Given the description of an element on the screen output the (x, y) to click on. 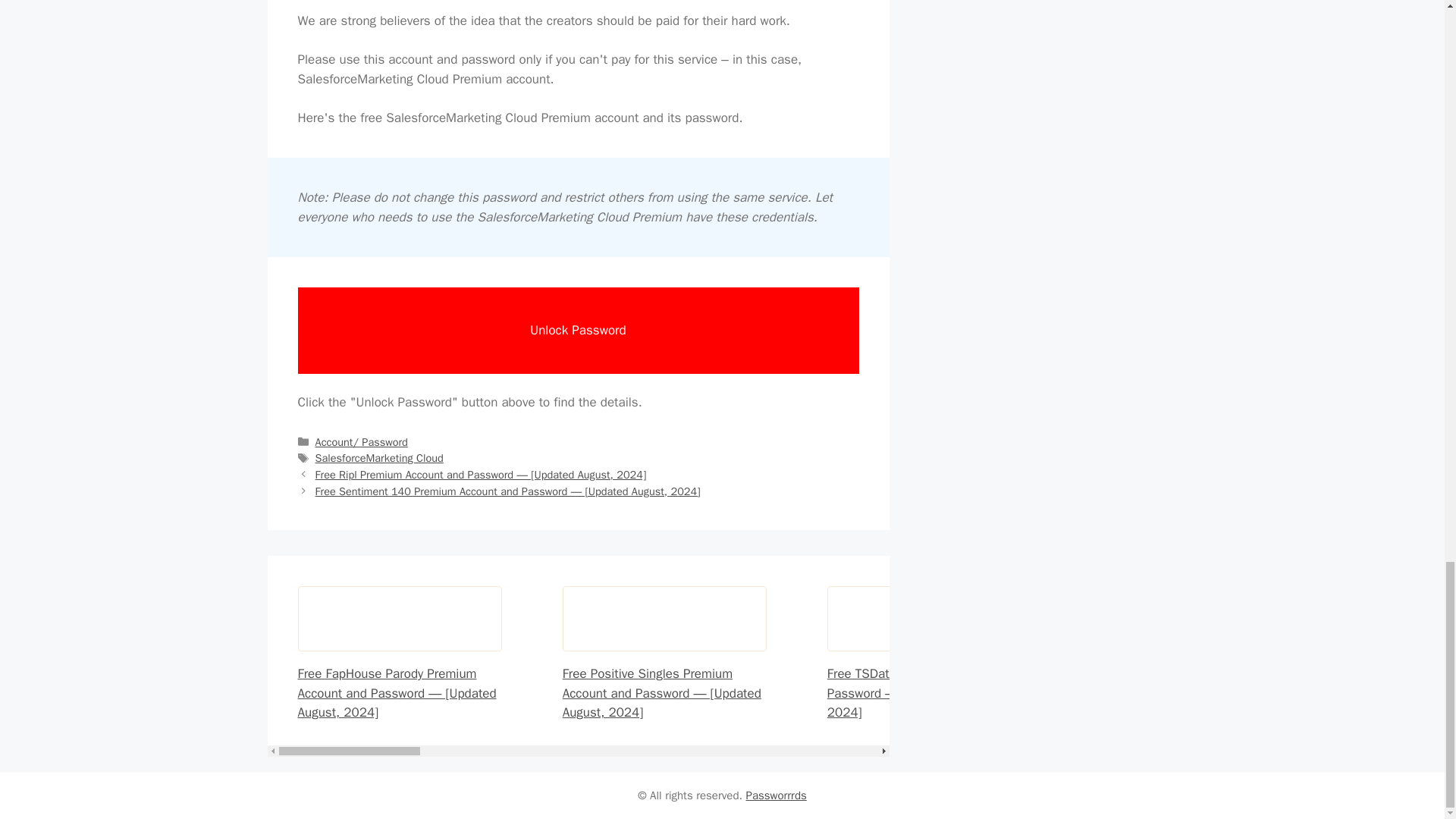
Next (507, 490)
Previous (480, 474)
SalesforceMarketing Cloud (379, 458)
Unlock Password (578, 330)
